Given the description of an element on the screen output the (x, y) to click on. 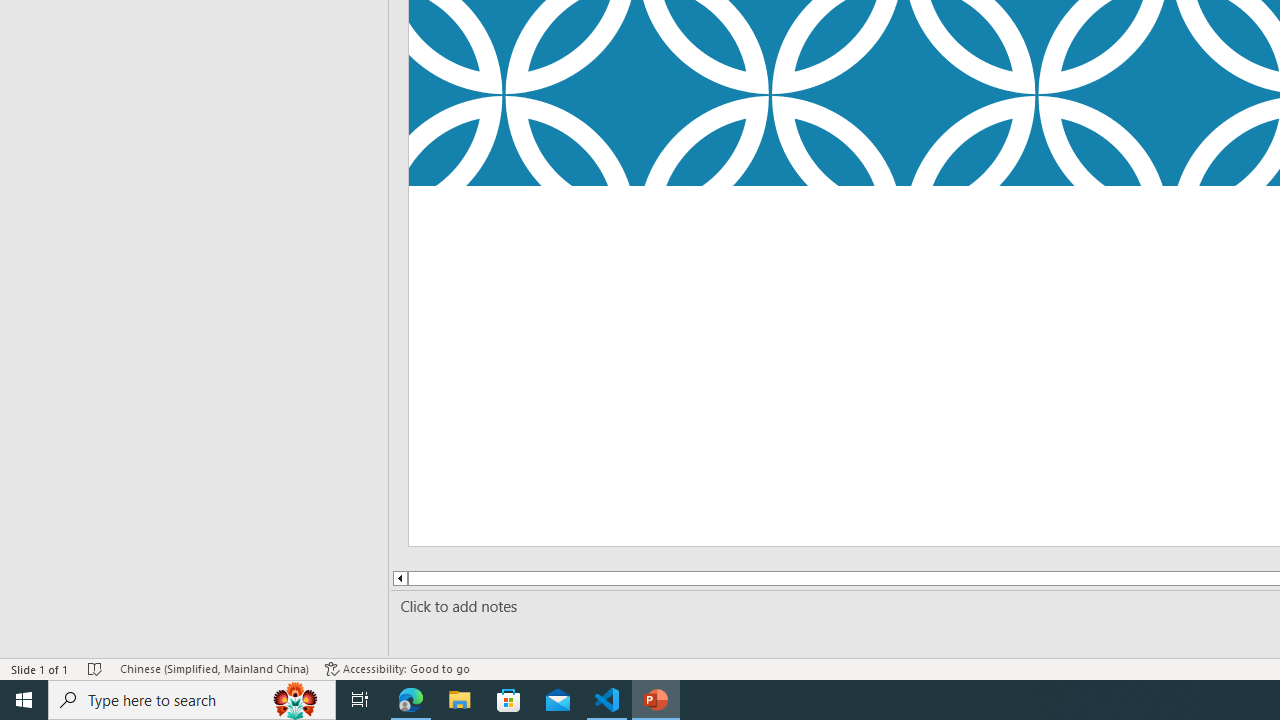
Spell Check No Errors (95, 668)
Accessibility Checker Accessibility: Good to go (397, 668)
